Given the description of an element on the screen output the (x, y) to click on. 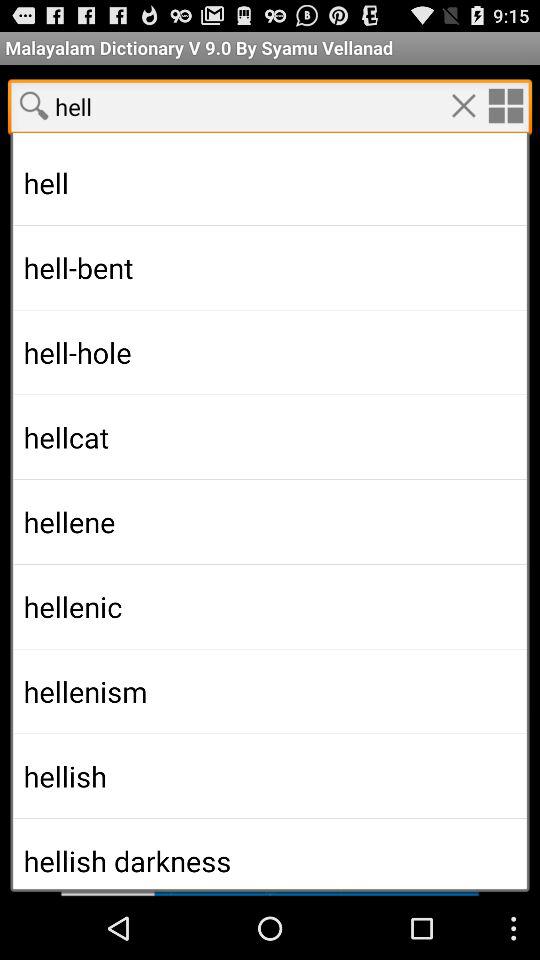
search the word (34, 105)
